Given the description of an element on the screen output the (x, y) to click on. 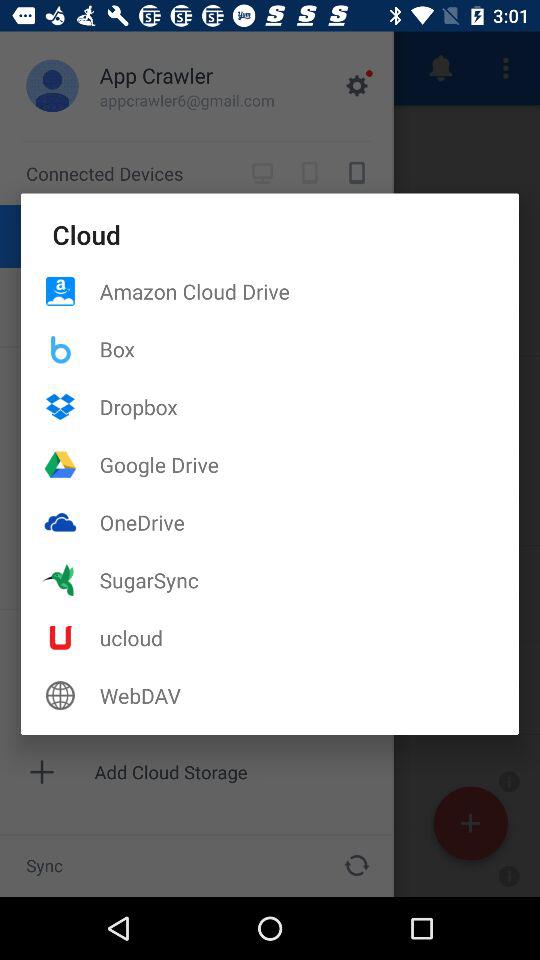
launch onedrive item (309, 522)
